Given the description of an element on the screen output the (x, y) to click on. 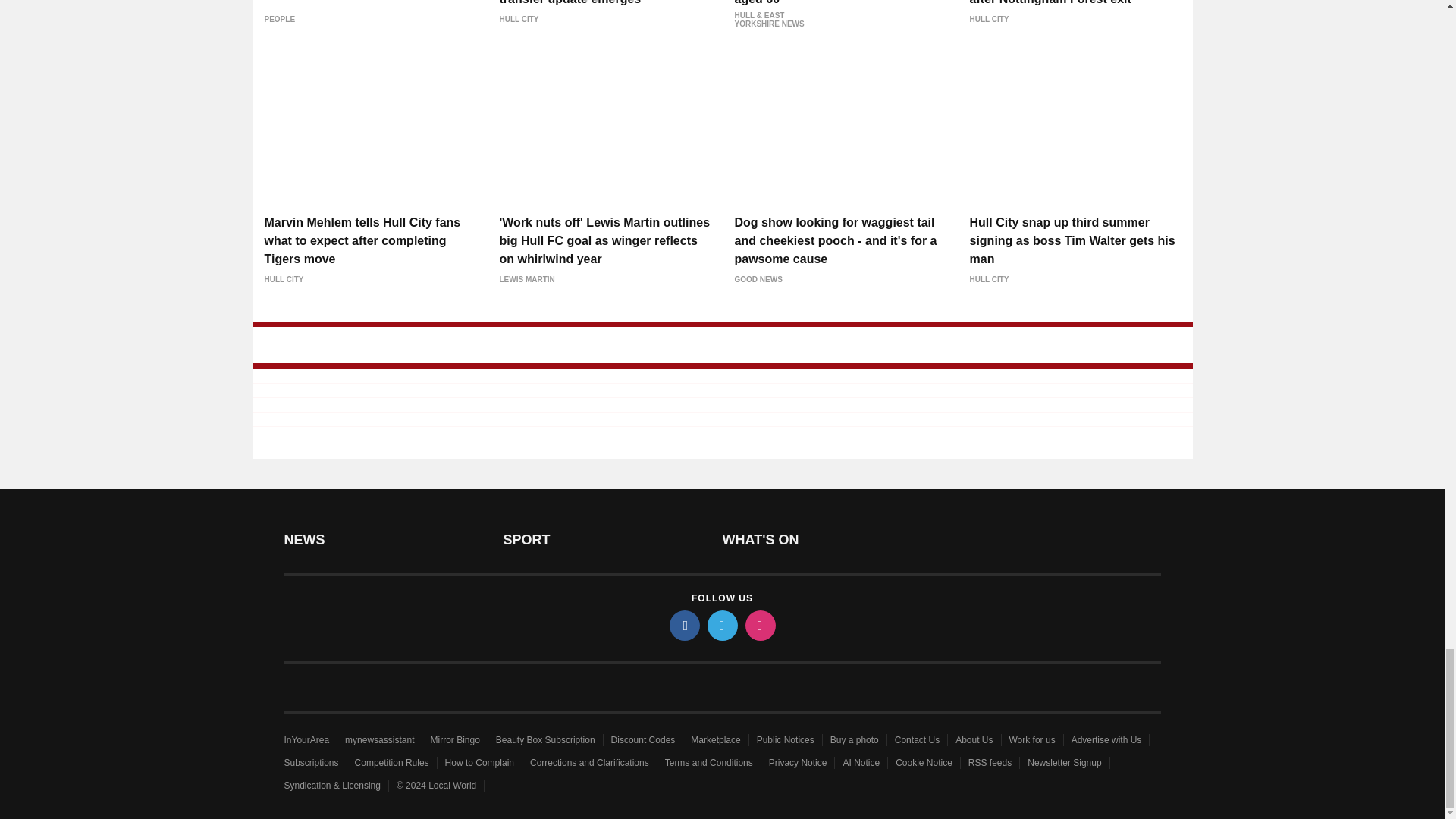
instagram (759, 625)
facebook (683, 625)
twitter (721, 625)
